Given the description of an element on the screen output the (x, y) to click on. 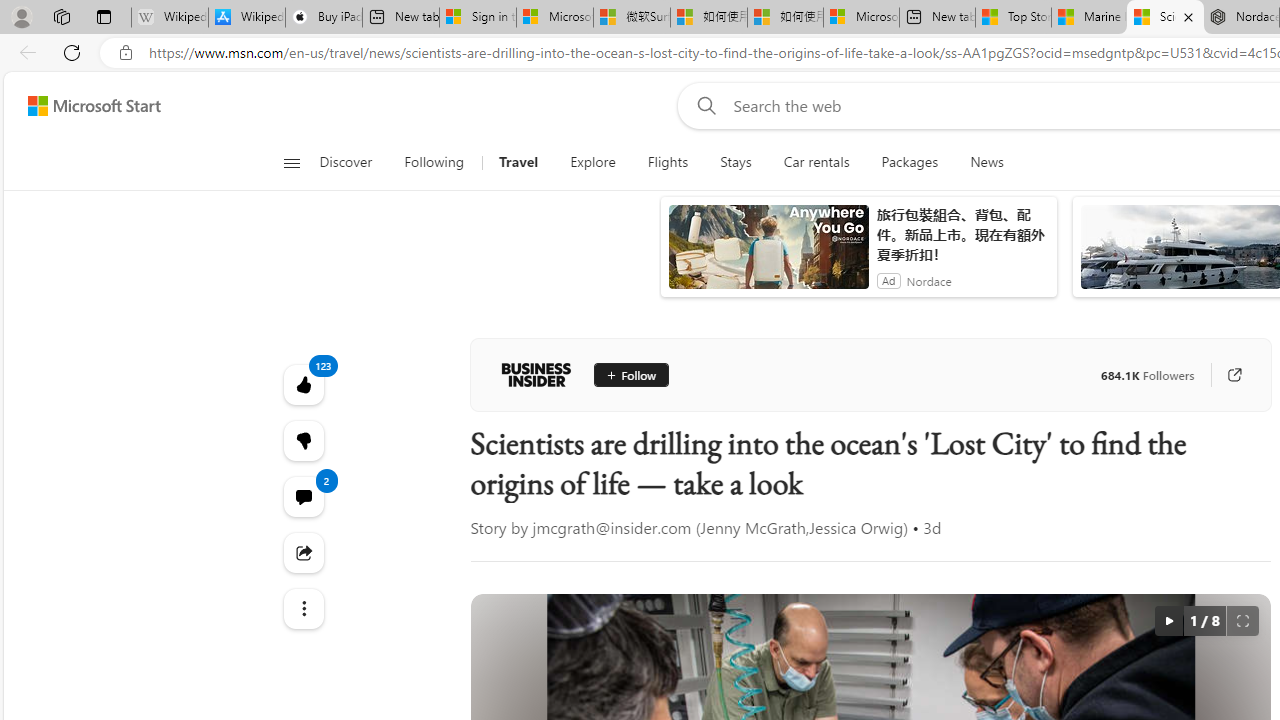
Stays (735, 162)
Marine life - MSN (1089, 17)
View comments 2 Comment (302, 496)
Go to publisher's site (1234, 374)
Business Insider (536, 374)
